Given the description of an element on the screen output the (x, y) to click on. 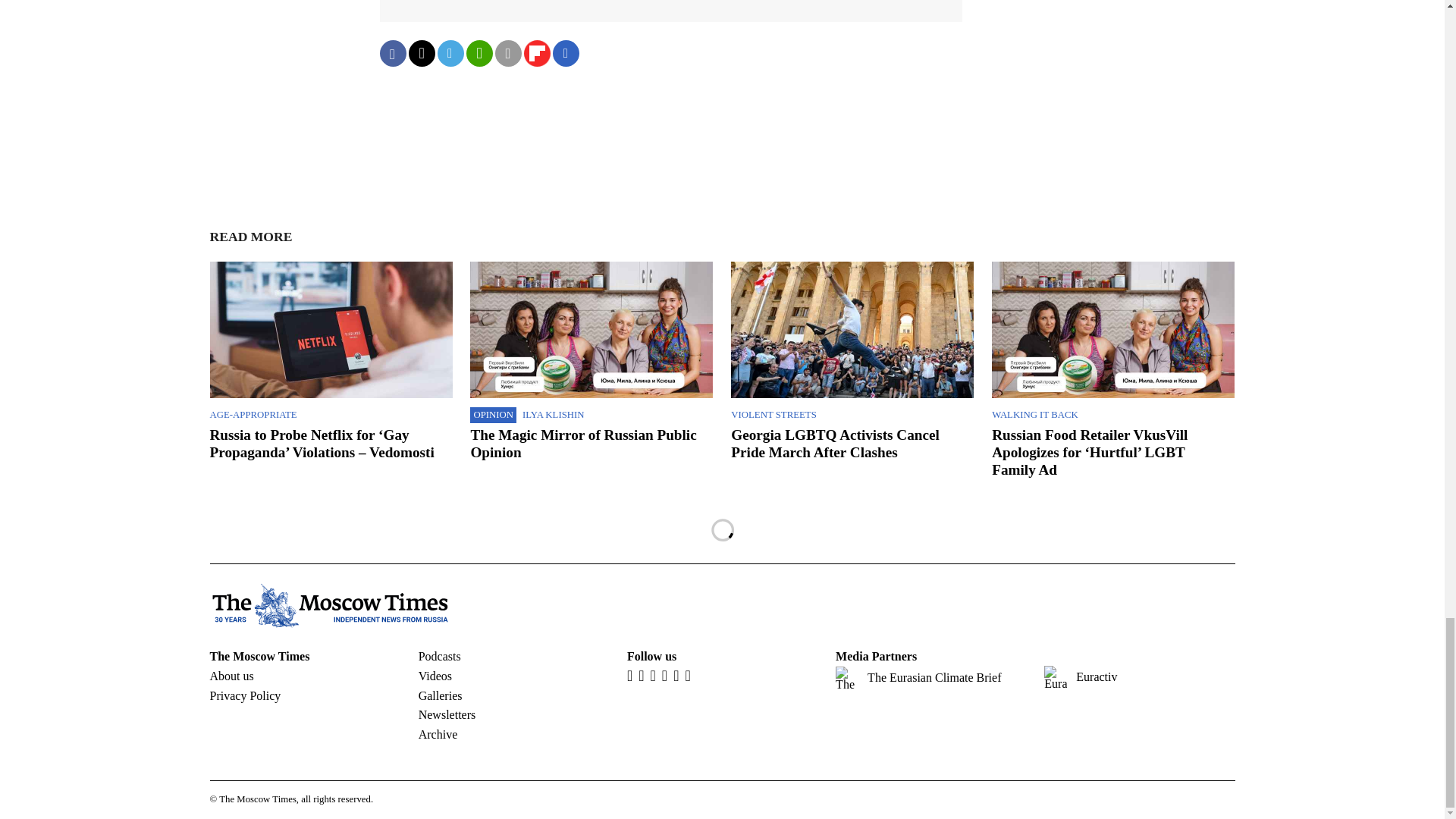
Share on Twitter (420, 53)
Share on Facebook (392, 53)
Share on Telegram (449, 53)
